Given the description of an element on the screen output the (x, y) to click on. 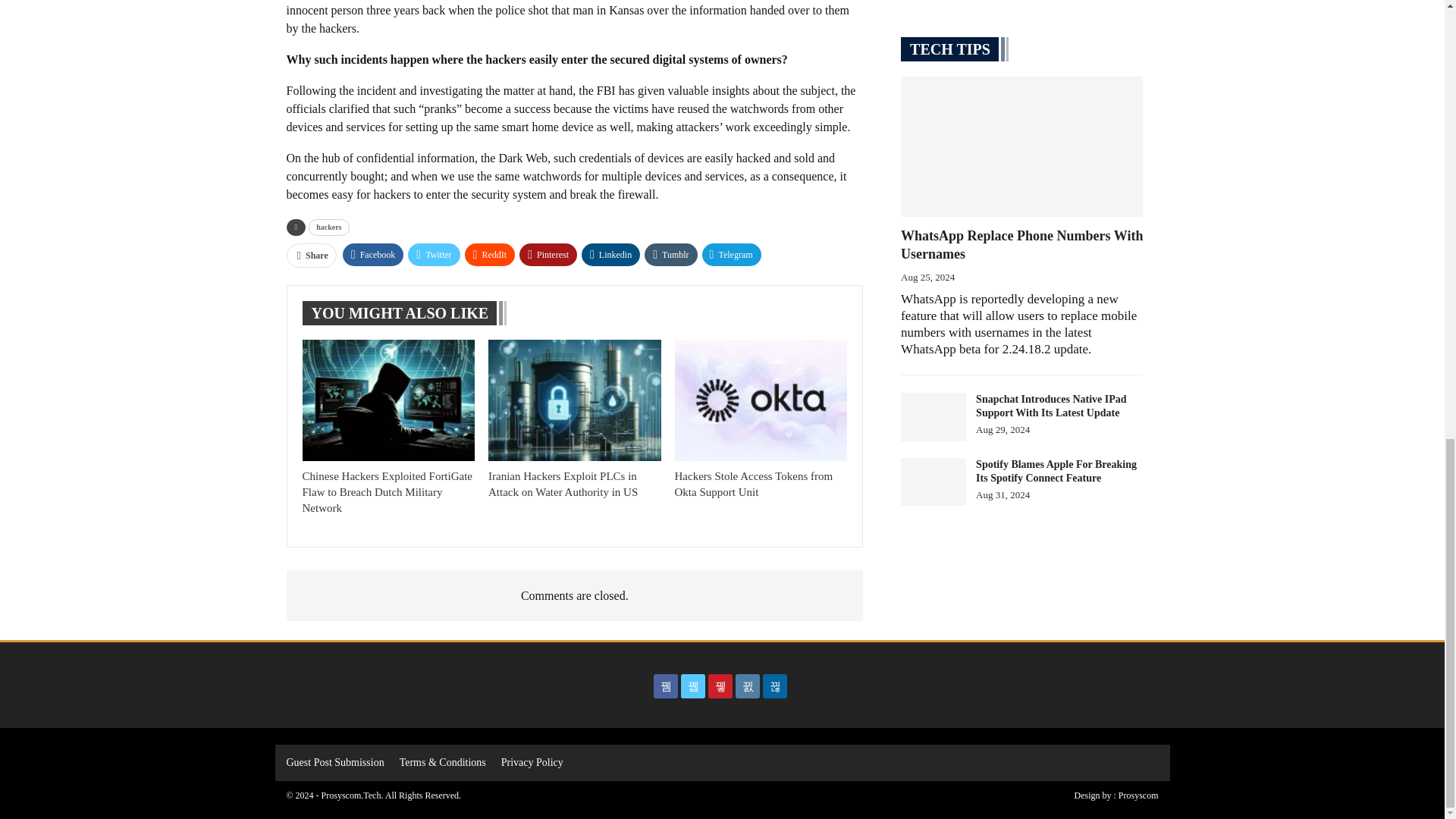
WhatsApp Replace Phone Numbers With Usernames (1021, 146)
Linkedin (610, 254)
Twitter (433, 254)
Facebook (373, 254)
Tumblr (671, 254)
Hackers Stole Access Tokens from Okta Support Unit (753, 483)
ReddIt (489, 254)
Hackers Stole Access Tokens from Okta Support Unit (761, 399)
